Given the description of an element on the screen output the (x, y) to click on. 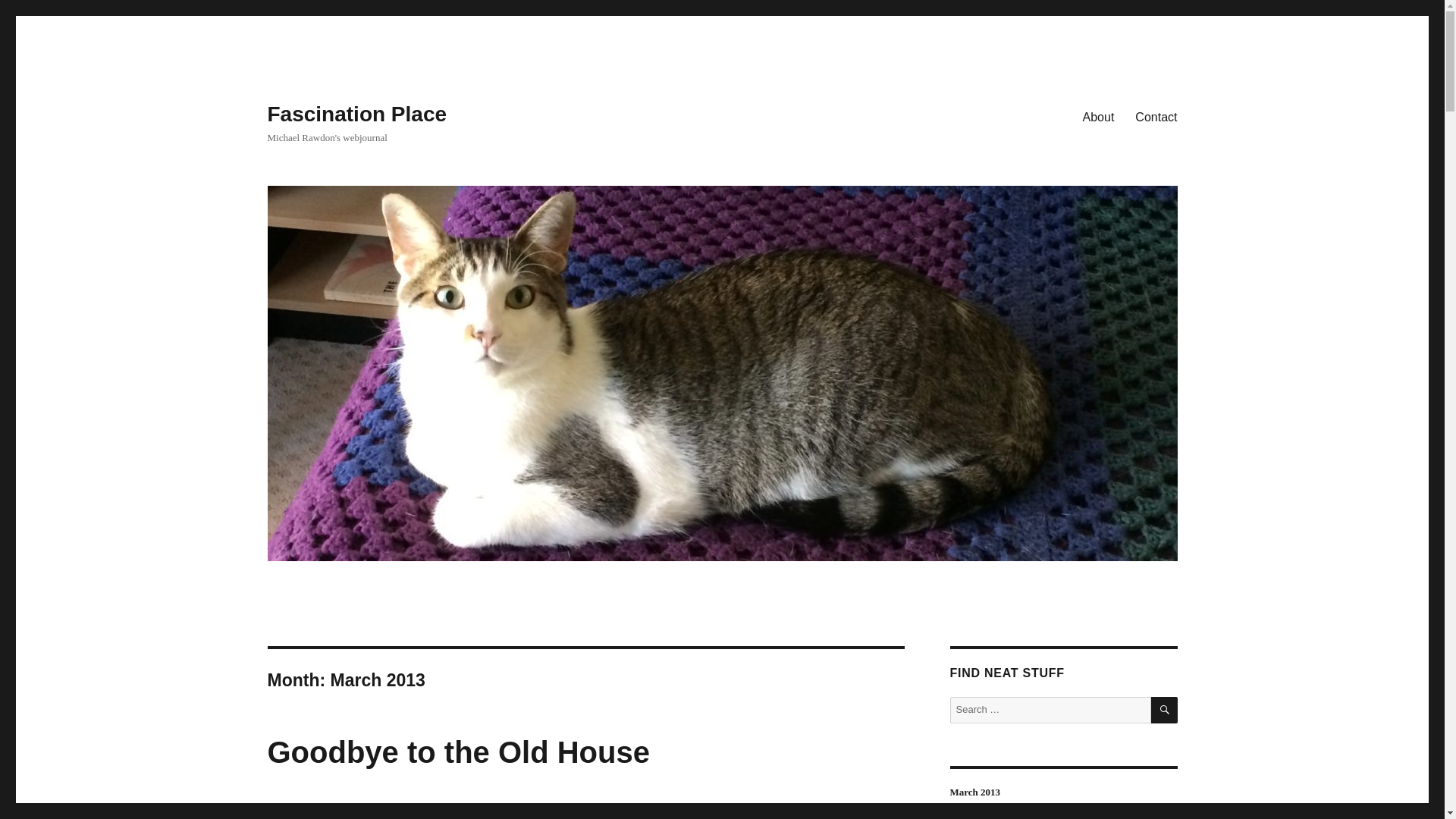
Contact (1156, 116)
SEARCH (1164, 709)
Fascination Place (356, 114)
Goodbye to the Old House (457, 752)
31 March 2013 (299, 811)
About (1098, 116)
